Given the description of an element on the screen output the (x, y) to click on. 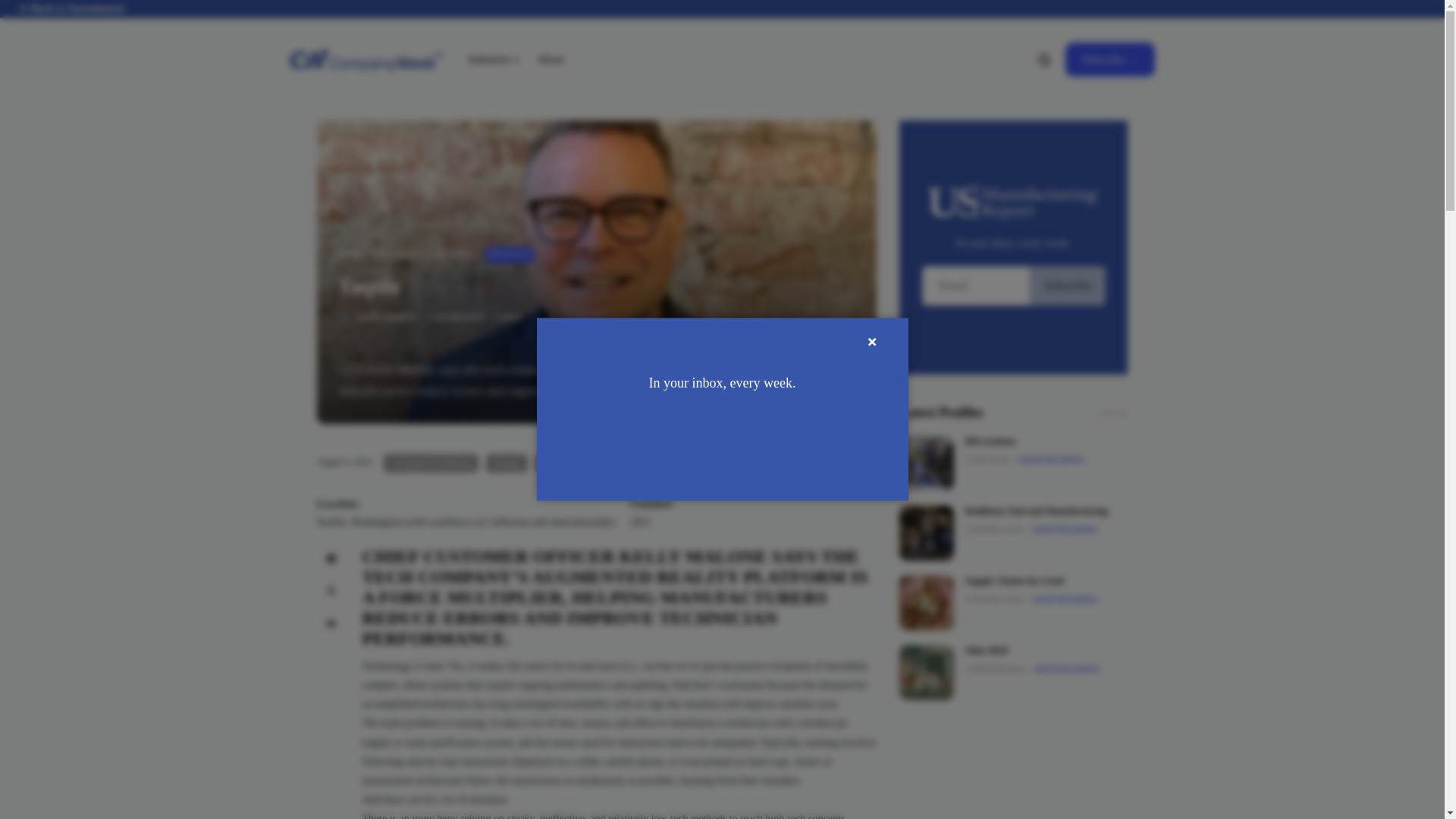
3 YEARS AGO (455, 317)
B9Creations (926, 462)
Ohio MEP (926, 672)
Posts by Glen Martin (386, 317)
HOME (351, 254)
Supply Chains for Good (926, 602)
CompanyWeek (365, 59)
Supply Chains for Good (1014, 580)
Energy (506, 462)
PROFILES (399, 253)
